Given the description of an element on the screen output the (x, y) to click on. 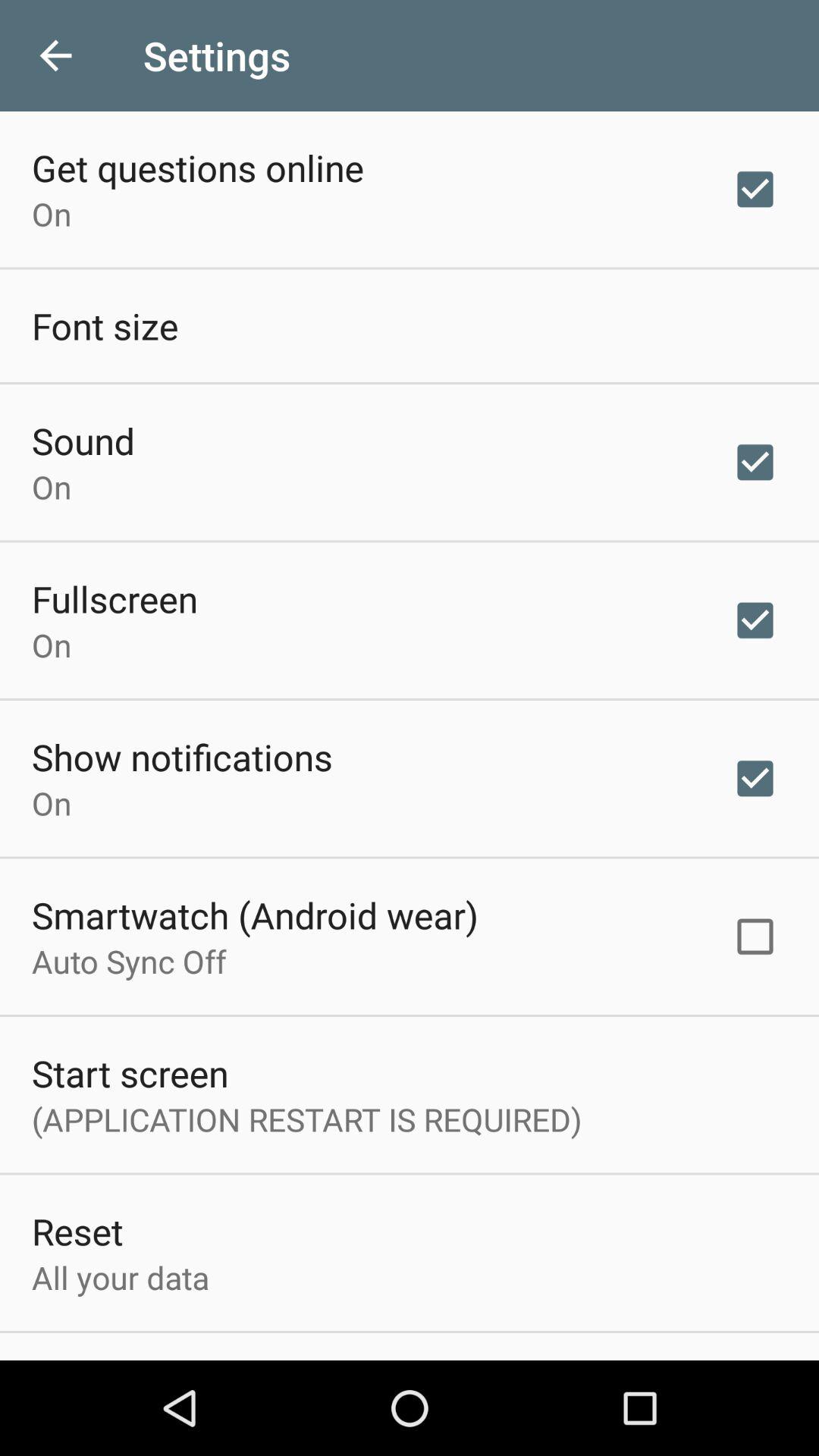
click item below the smartwatch (android wear) (128, 960)
